Given the description of an element on the screen output the (x, y) to click on. 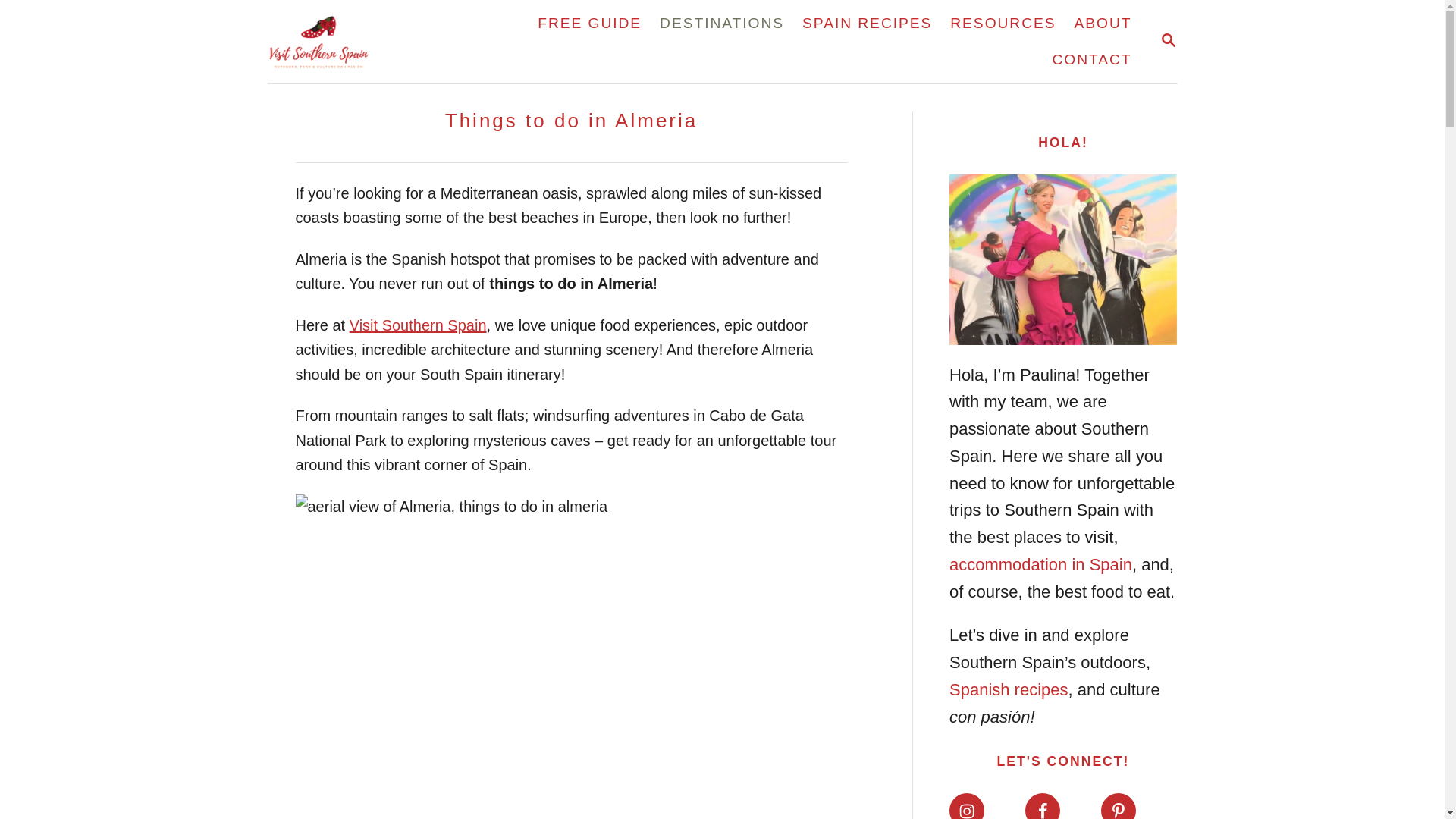
Visit Southern Spain (373, 41)
MAGNIFYING GLASS (1167, 40)
Follow on Pinterest (1167, 41)
Visit Southern Spain (1117, 806)
CONTACT (417, 324)
RESOURCES (1091, 59)
DESTINATIONS (1002, 22)
Follow on Facebook (721, 22)
FREE GUIDE (1042, 806)
ABOUT (589, 22)
SPAIN RECIPES (1103, 22)
Follow on Instagram (866, 22)
